Given the description of an element on the screen output the (x, y) to click on. 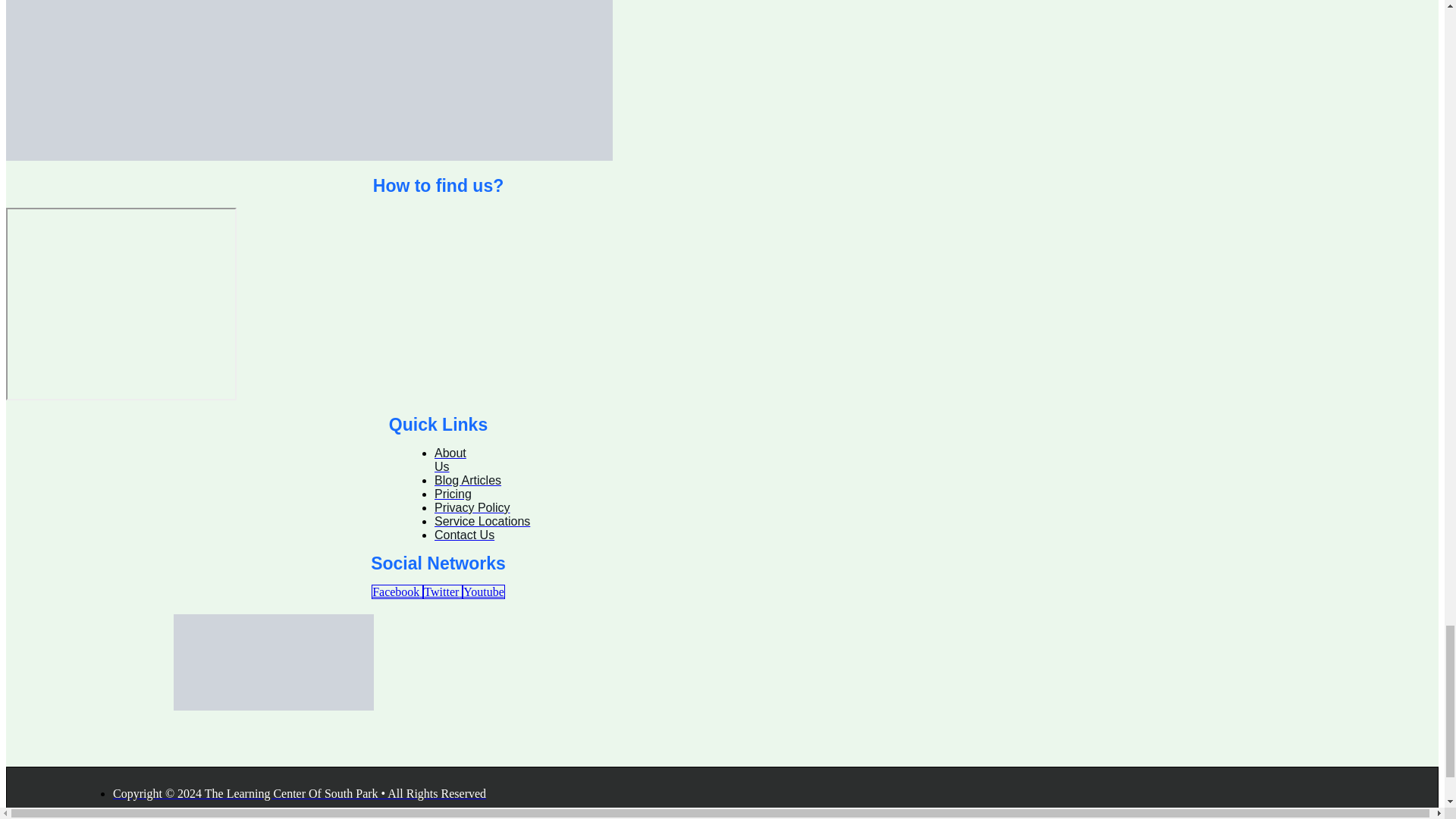
the learning center of south park (120, 304)
Blog Articles (466, 480)
Pricing (452, 493)
About Us (449, 459)
